Given the description of an element on the screen output the (x, y) to click on. 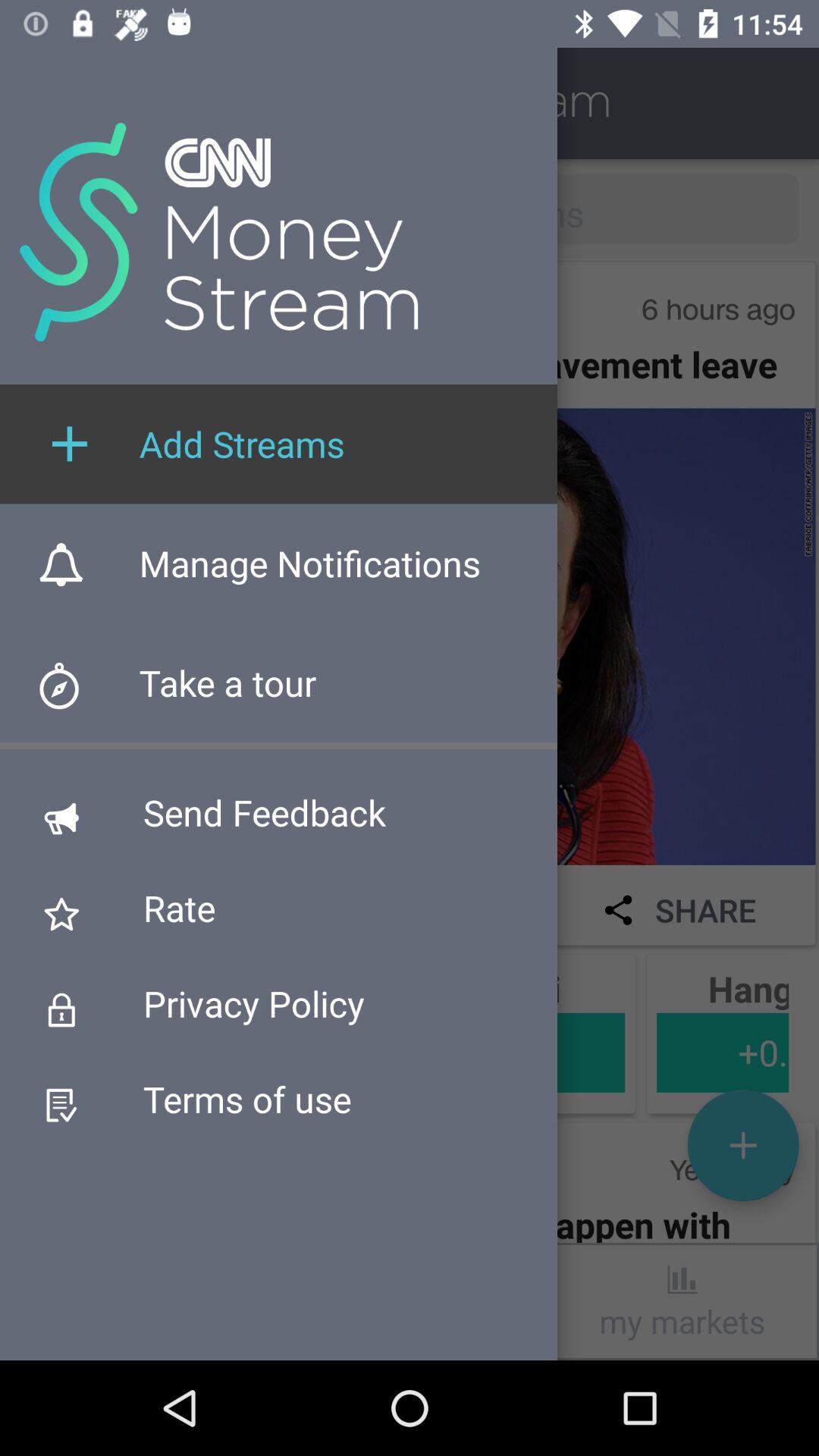
click the icon left to add streams (69, 443)
click on the icon beside take a tour (69, 692)
